Given the description of an element on the screen output the (x, y) to click on. 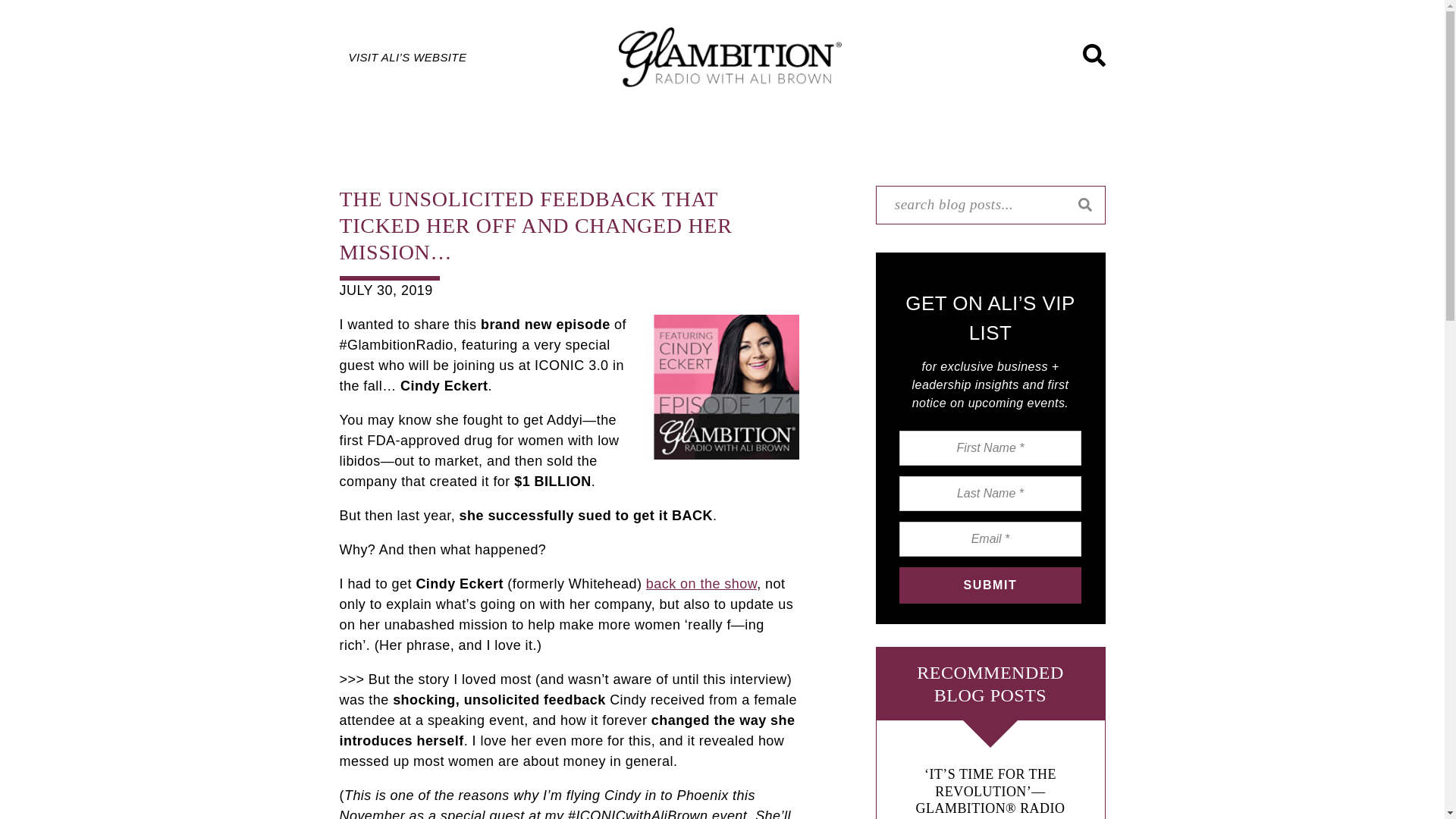
Search blog posts... (990, 204)
Search blog posts... (990, 204)
SUBMIT (990, 585)
back on the show (701, 583)
